Given the description of an element on the screen output the (x, y) to click on. 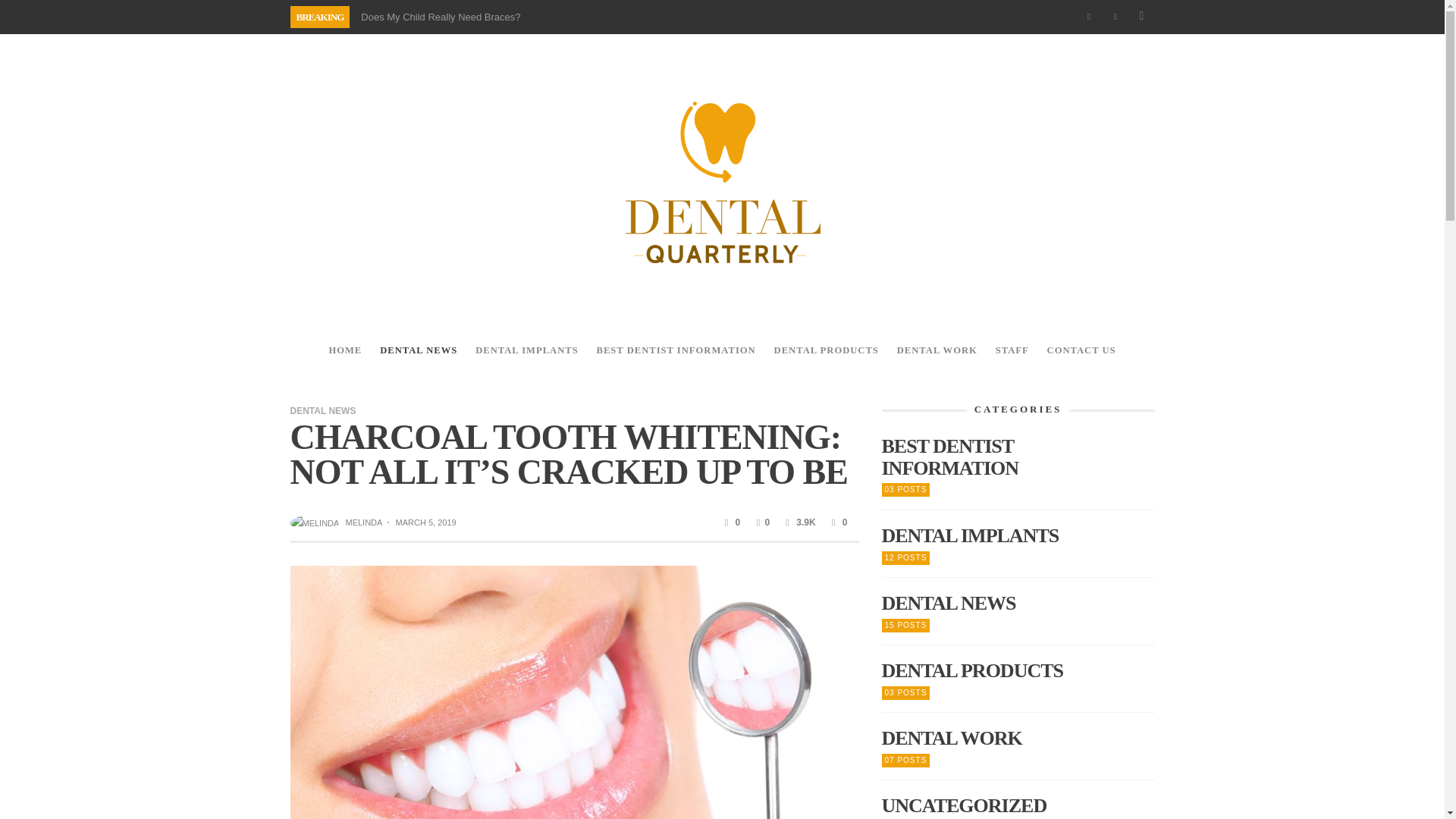
BEST DENTIST INFORMATION (675, 350)
View posts in Uncategorized (1017, 806)
Facebook (1089, 16)
View posts in DENTAL PRODUCTS (1017, 671)
View posts in BEST DENTIST INFORMATION (1017, 457)
STAFF (1012, 350)
DENTAL NEWS (322, 409)
DENTAL IMPLANTS (526, 350)
Does My Child Really Need Braces? (440, 16)
View posts in DENTAL IMPLANTS (1017, 536)
HOME (344, 350)
MELINDA (363, 522)
0 (837, 521)
DENTAL WORK (937, 350)
CONTACT US (1081, 350)
